Given the description of an element on the screen output the (x, y) to click on. 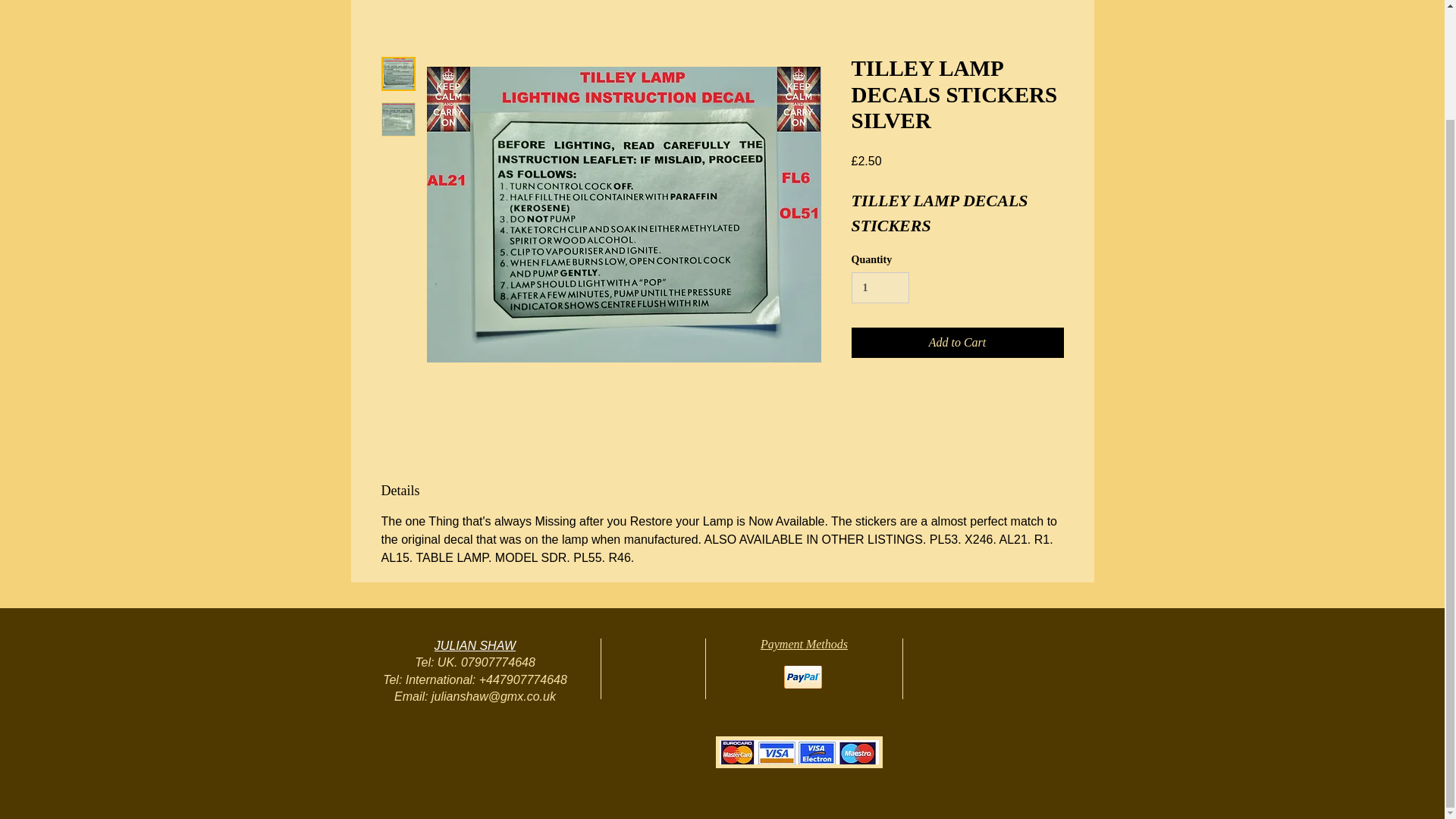
1 (879, 287)
paypal-curved-64px.png (803, 676)
Add to Cart (956, 342)
